Given the description of an element on the screen output the (x, y) to click on. 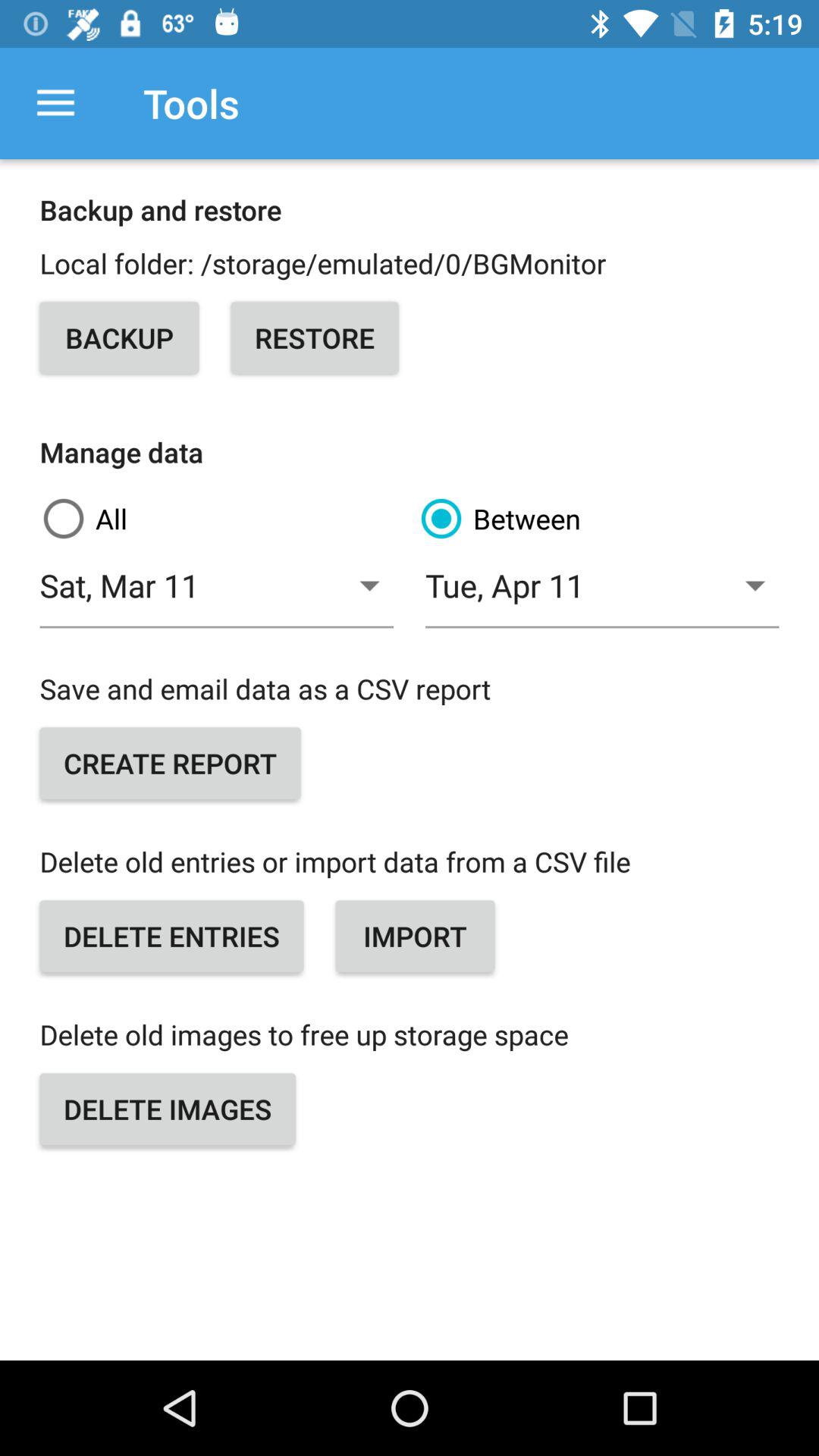
choose the icon next to the tools (55, 103)
